Given the description of an element on the screen output the (x, y) to click on. 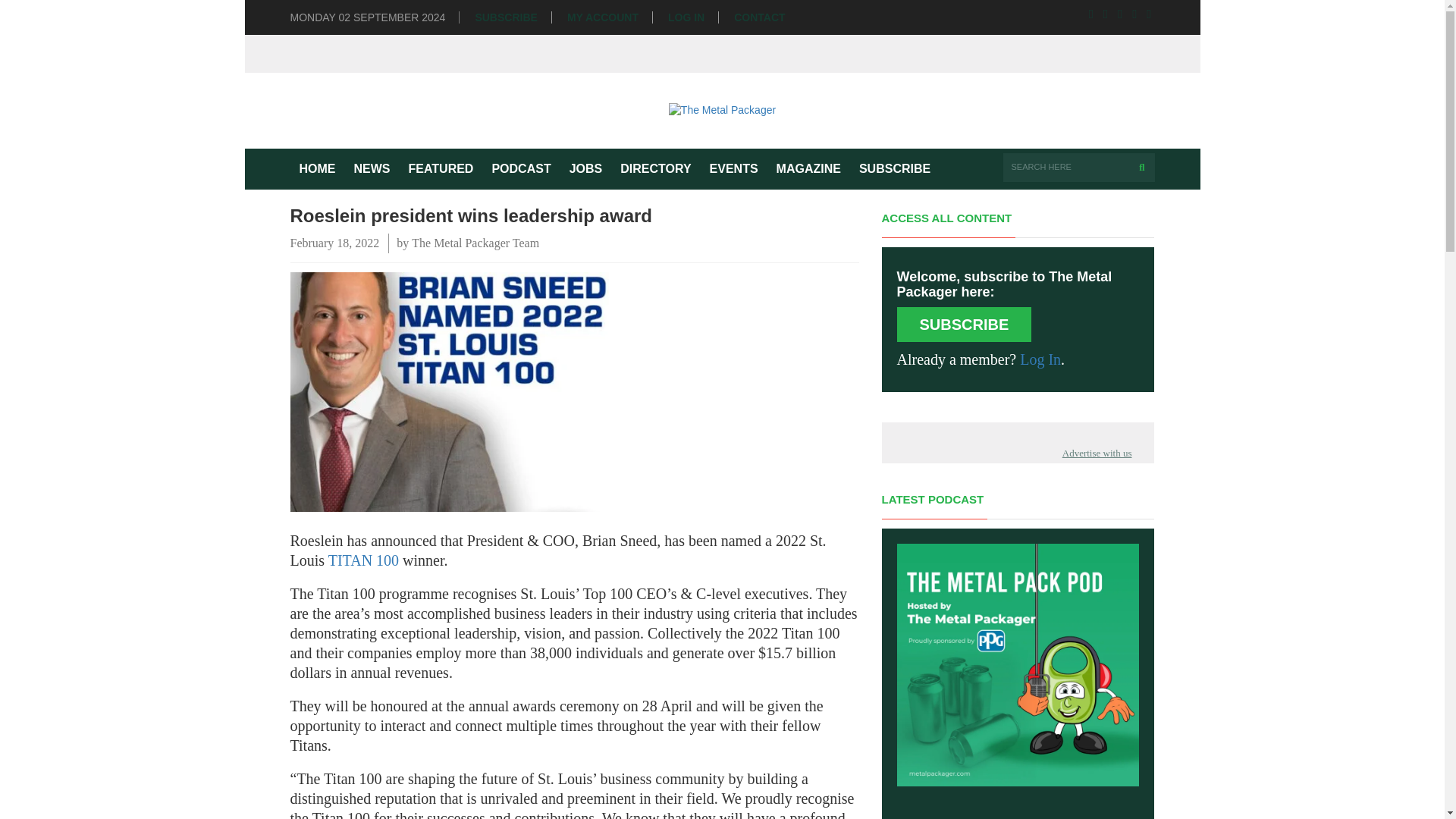
PODCAST (520, 168)
Featured (439, 168)
News (370, 168)
The Metal Packager (722, 110)
FEATURED (439, 168)
Home (316, 168)
The Metal Packager Team (475, 243)
Podcast (520, 168)
Events (733, 168)
JOBS (585, 168)
